Given the description of an element on the screen output the (x, y) to click on. 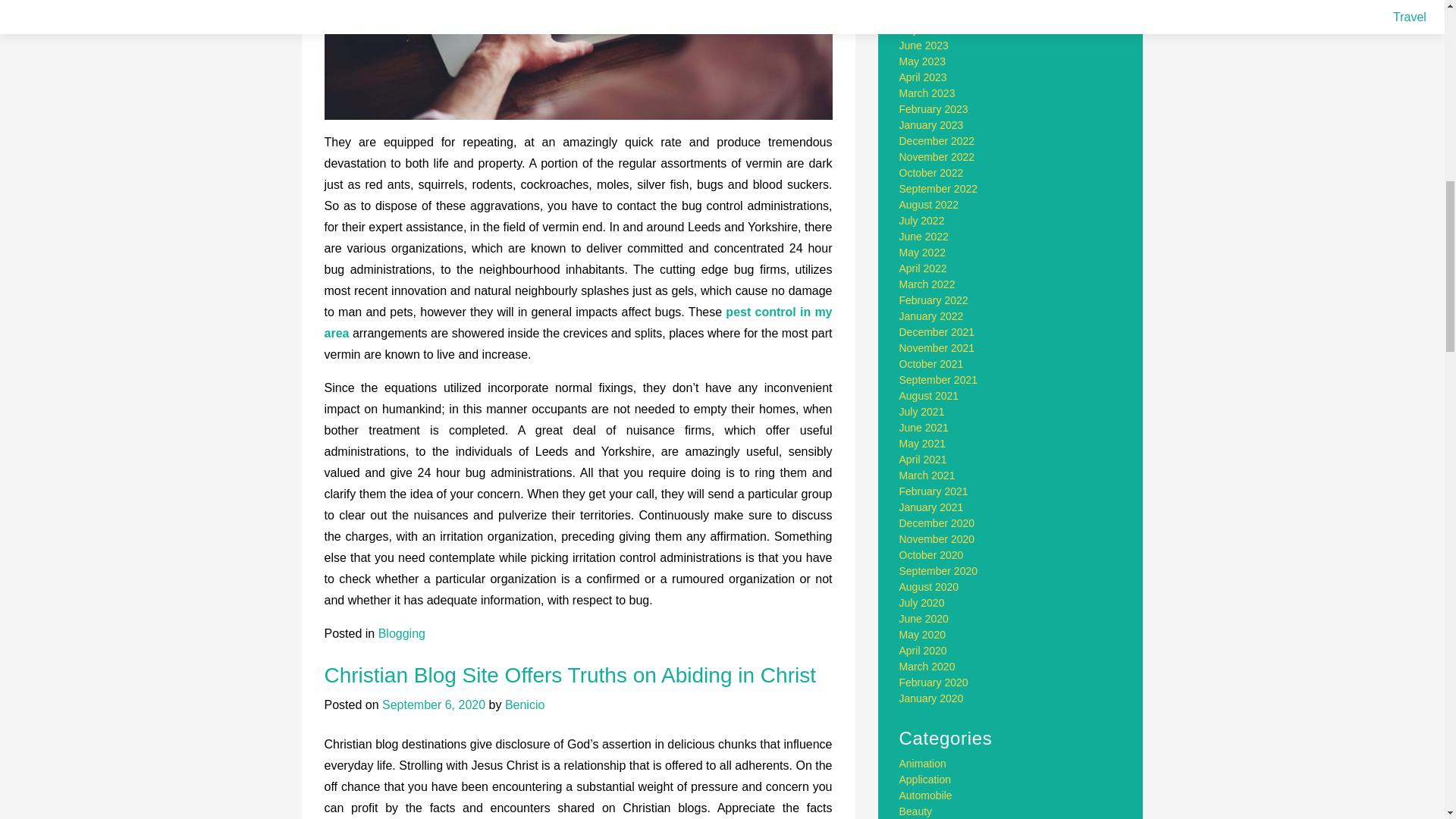
July 2023 (921, 29)
April 2023 (923, 77)
September 2023 (938, 2)
June 2023 (924, 45)
September 6, 2020 (432, 704)
Christian Blog Site Offers Truths on Abiding in Christ (569, 675)
Benicio (524, 704)
pest control in my area (578, 322)
Blogging (401, 633)
August 2023 (929, 13)
May 2023 (921, 61)
